Given the description of an element on the screen output the (x, y) to click on. 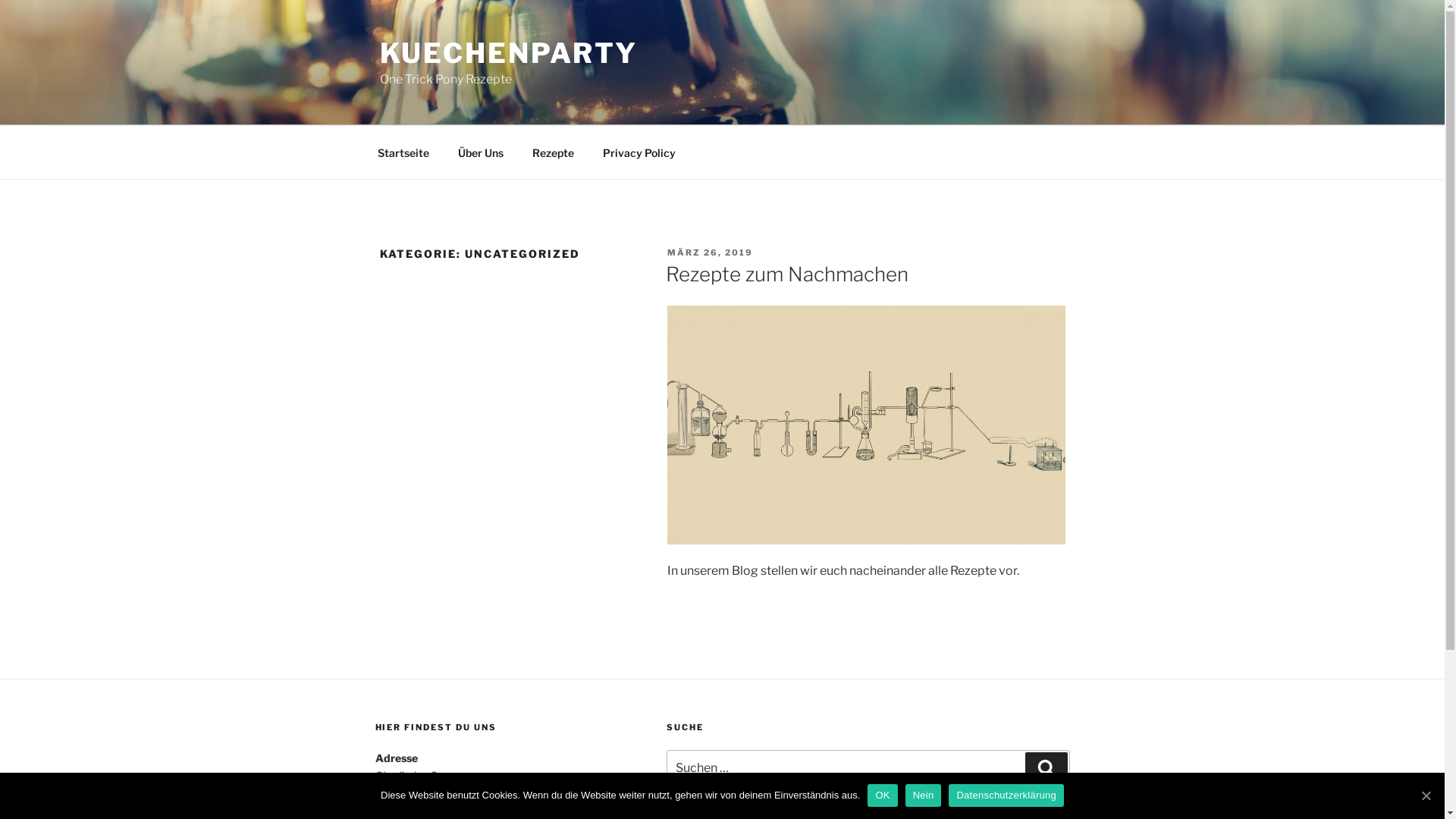
KUECHENPARTY Element type: text (508, 52)
Privacy Policy Element type: text (639, 151)
OK Element type: text (882, 795)
Rezepte zum Nachmachen Element type: text (786, 273)
Nein Element type: text (923, 795)
Rezepte Element type: text (552, 151)
Startseite Element type: text (403, 151)
Zum Inhalt springen Element type: text (0, 0)
Suchen Element type: text (1046, 768)
